Given the description of an element on the screen output the (x, y) to click on. 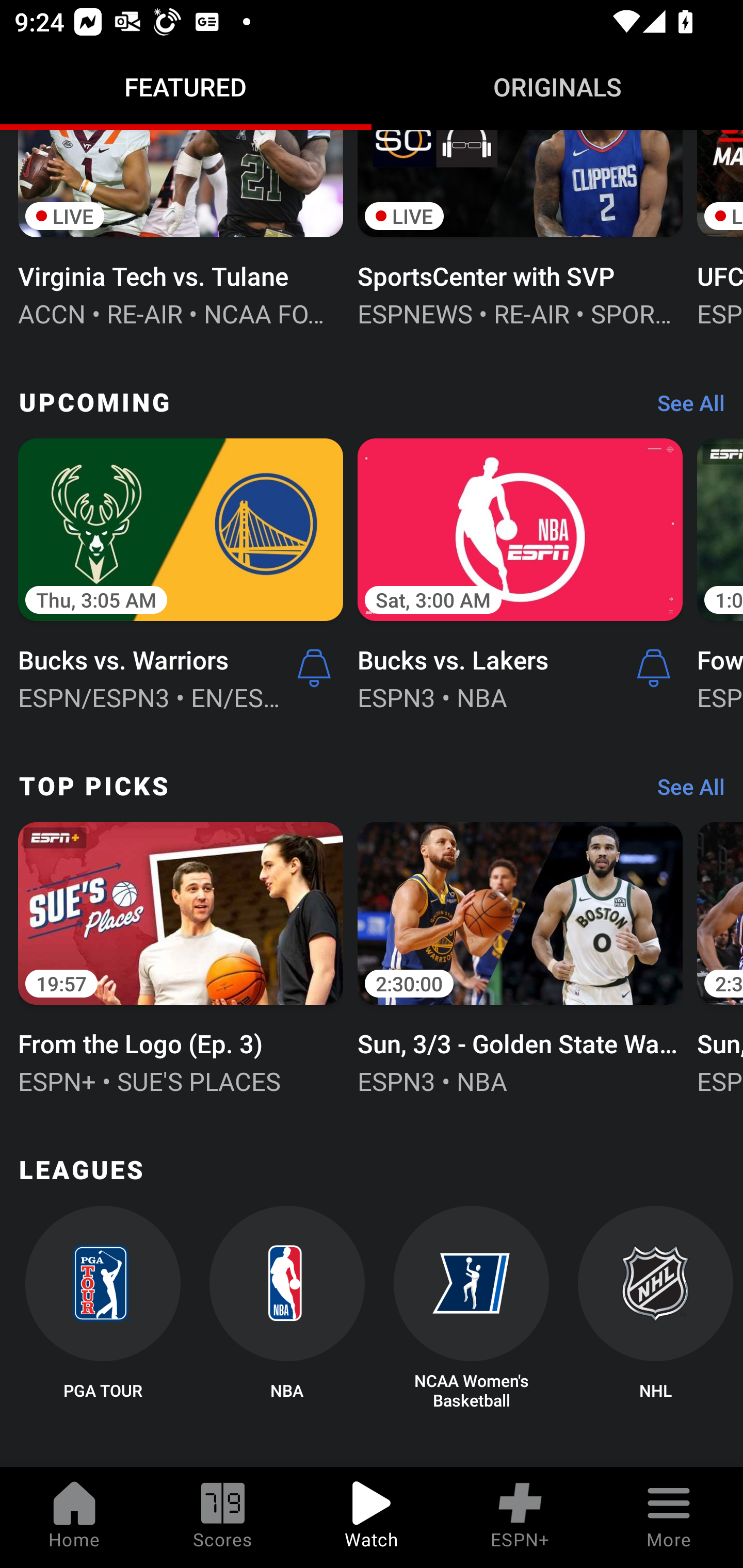
Originals ORIGINALS (557, 86)
See All (683, 407)
Alerts (314, 667)
Alerts (653, 667)
See All (683, 791)
19:57 From the Logo (Ep. 3) ESPN+ • SUE'S PLACES (180, 956)
PGA TOUR (102, 1308)
NBA (286, 1308)
NCAA Women's Basketball (471, 1308)
NHL (655, 1308)
Home (74, 1517)
Scores (222, 1517)
ESPN+ (519, 1517)
More (668, 1517)
